Given the description of an element on the screen output the (x, y) to click on. 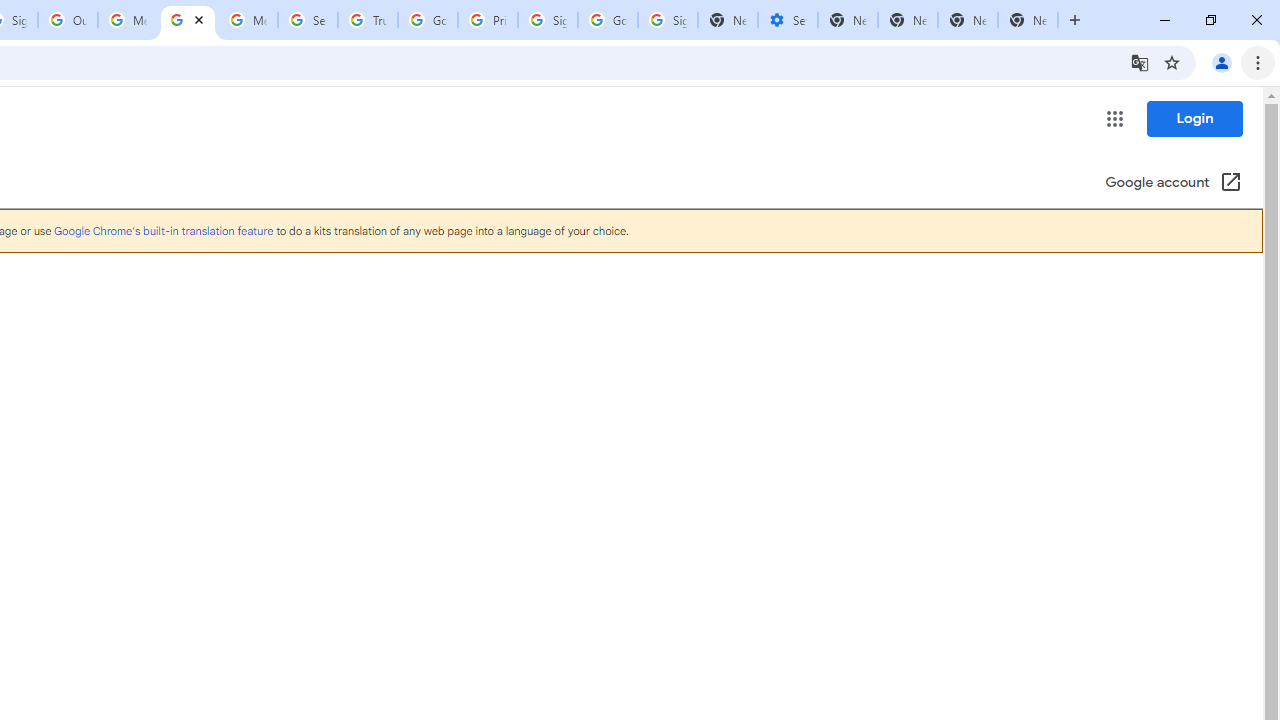
Google apps (1114, 118)
Sign in - Google Accounts (667, 20)
Trusted Information and Content - Google Safety Center (367, 20)
Sign in - Google Accounts (548, 20)
New Tab (847, 20)
Bookmark this tab (1171, 62)
Chrome (1260, 62)
Minimize (1165, 20)
Login (1194, 118)
New Tab (1075, 20)
Translate this page (1139, 62)
